Given the description of an element on the screen output the (x, y) to click on. 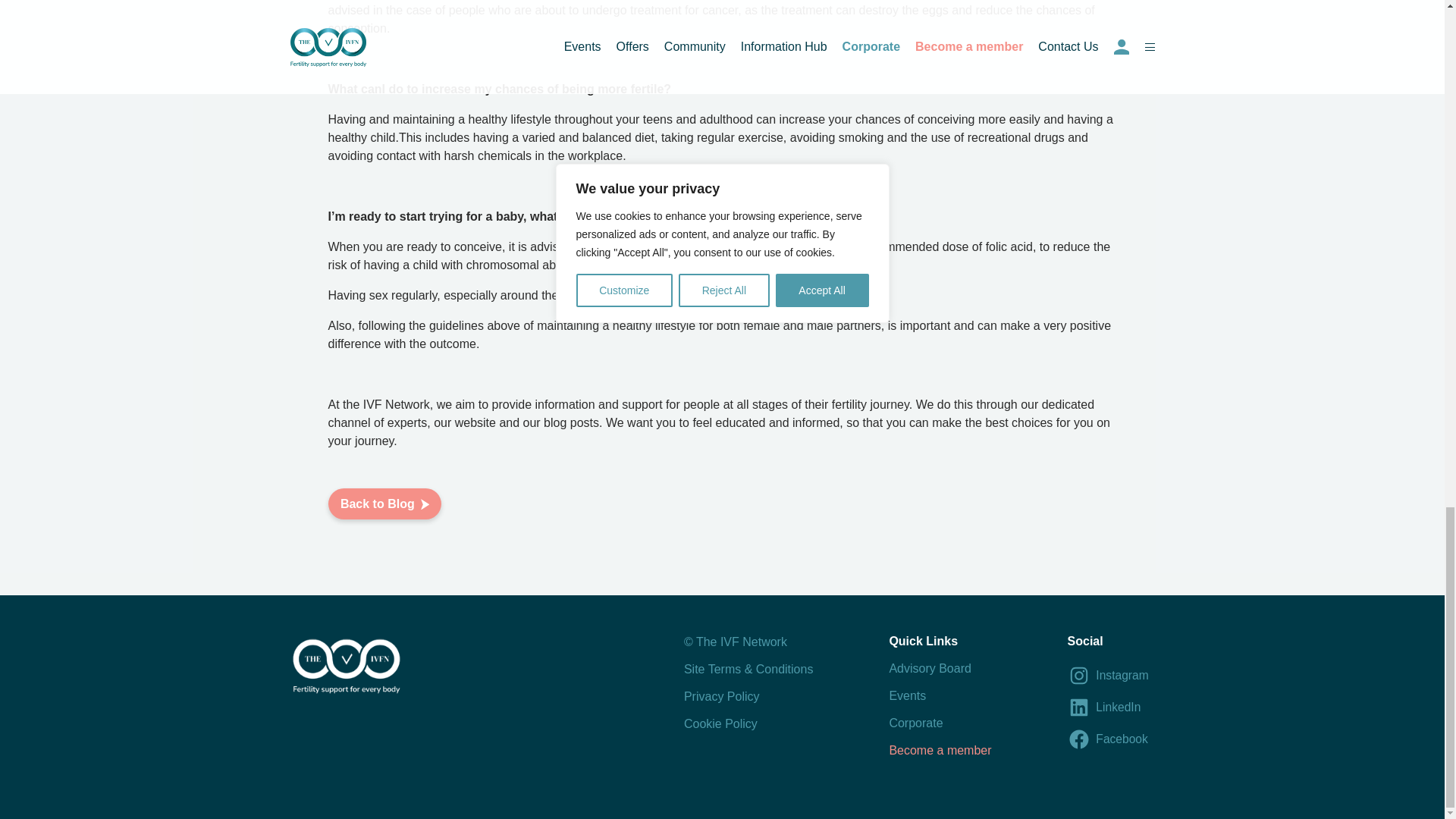
Privacy Policy (722, 696)
Advisory Board (929, 667)
Events (907, 695)
Back to Blog (384, 503)
Cookie Policy (720, 723)
The IVF Network (344, 669)
Corporate (915, 722)
